Given the description of an element on the screen output the (x, y) to click on. 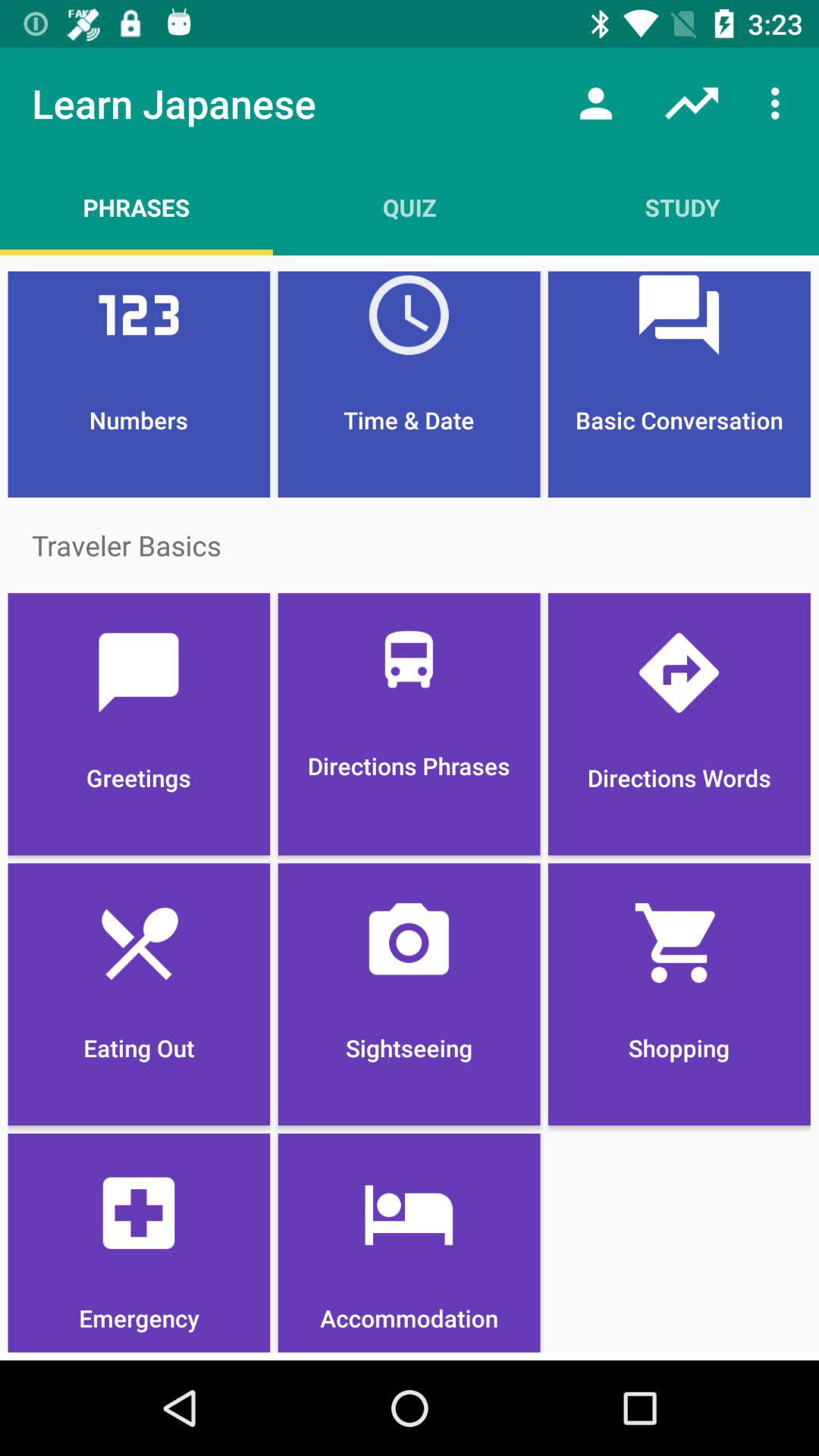
flip to study app (682, 207)
